Given the description of an element on the screen output the (x, y) to click on. 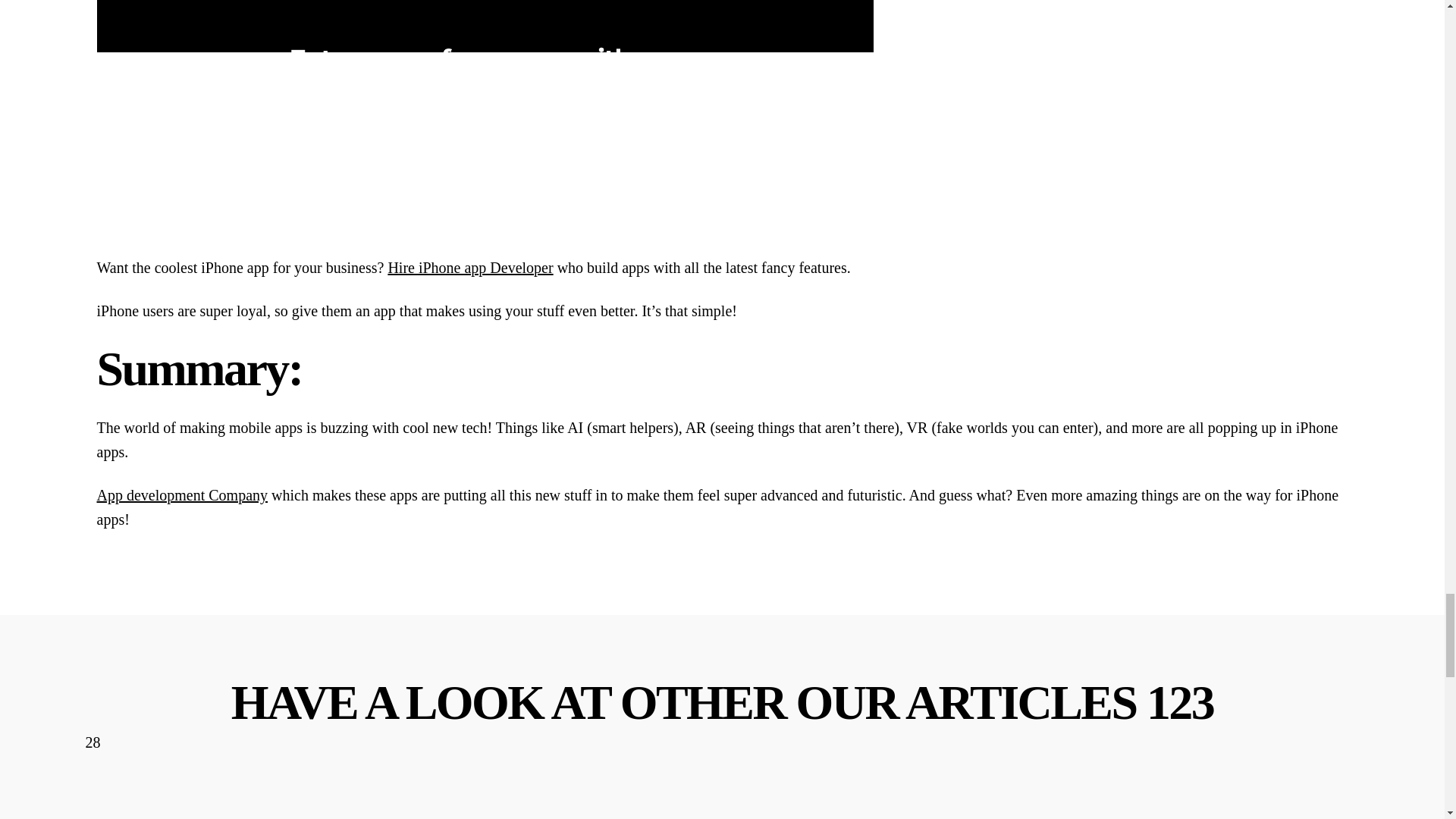
App development Company (182, 494)
Hire iPhone app Developer (470, 267)
